Given the description of an element on the screen output the (x, y) to click on. 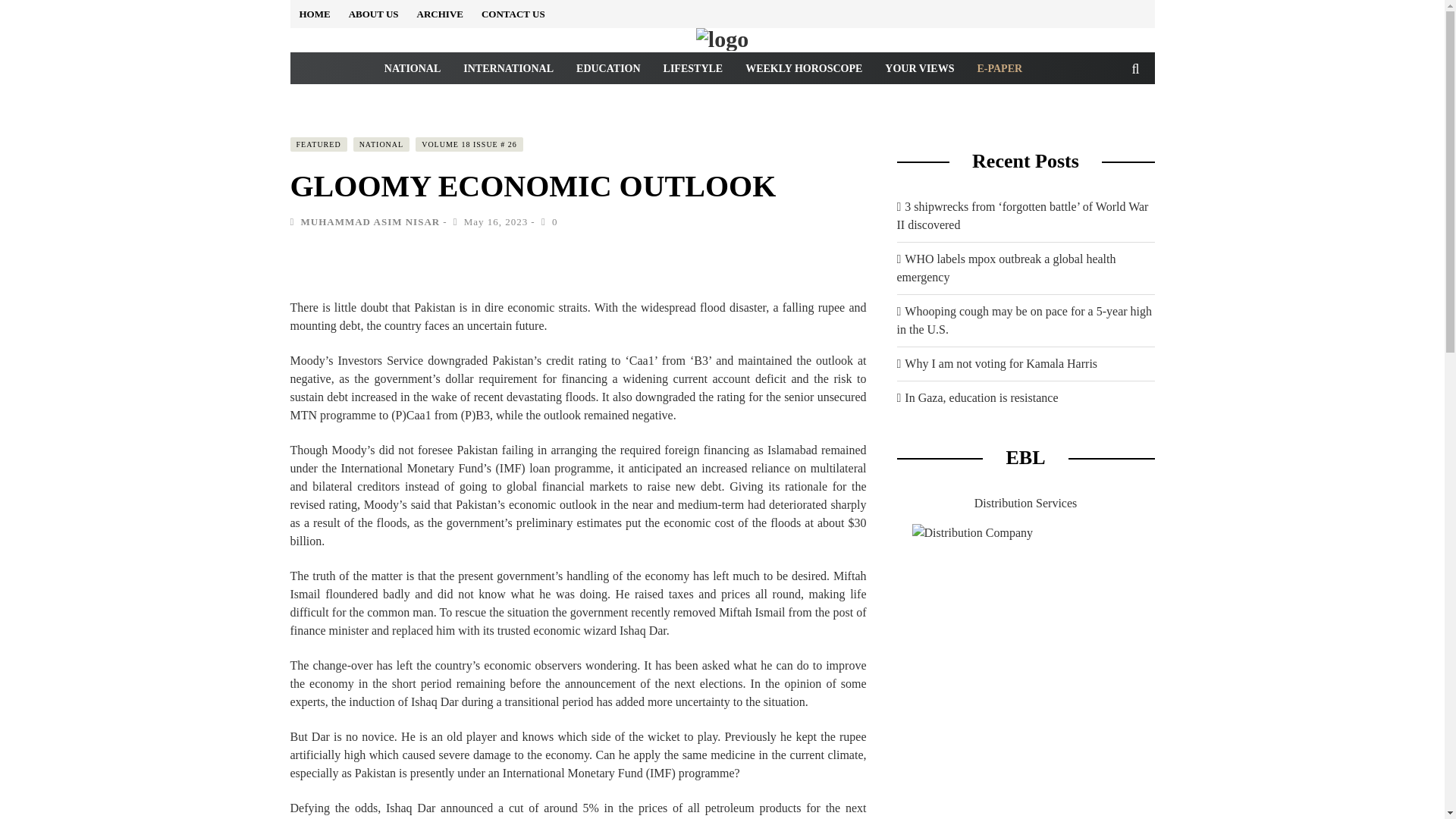
LIFESTYLE (693, 68)
WEEKLY HOROSCOPE (803, 68)
CONTACT US (512, 13)
ABOUT US (373, 13)
MUHAMMAD ASIM NISAR (369, 221)
Posts by Muhammad Asim Nisar (369, 221)
ARCHIVE (439, 13)
HOME (314, 13)
FEATURED (317, 144)
NATIONAL (381, 144)
